Given the description of an element on the screen output the (x, y) to click on. 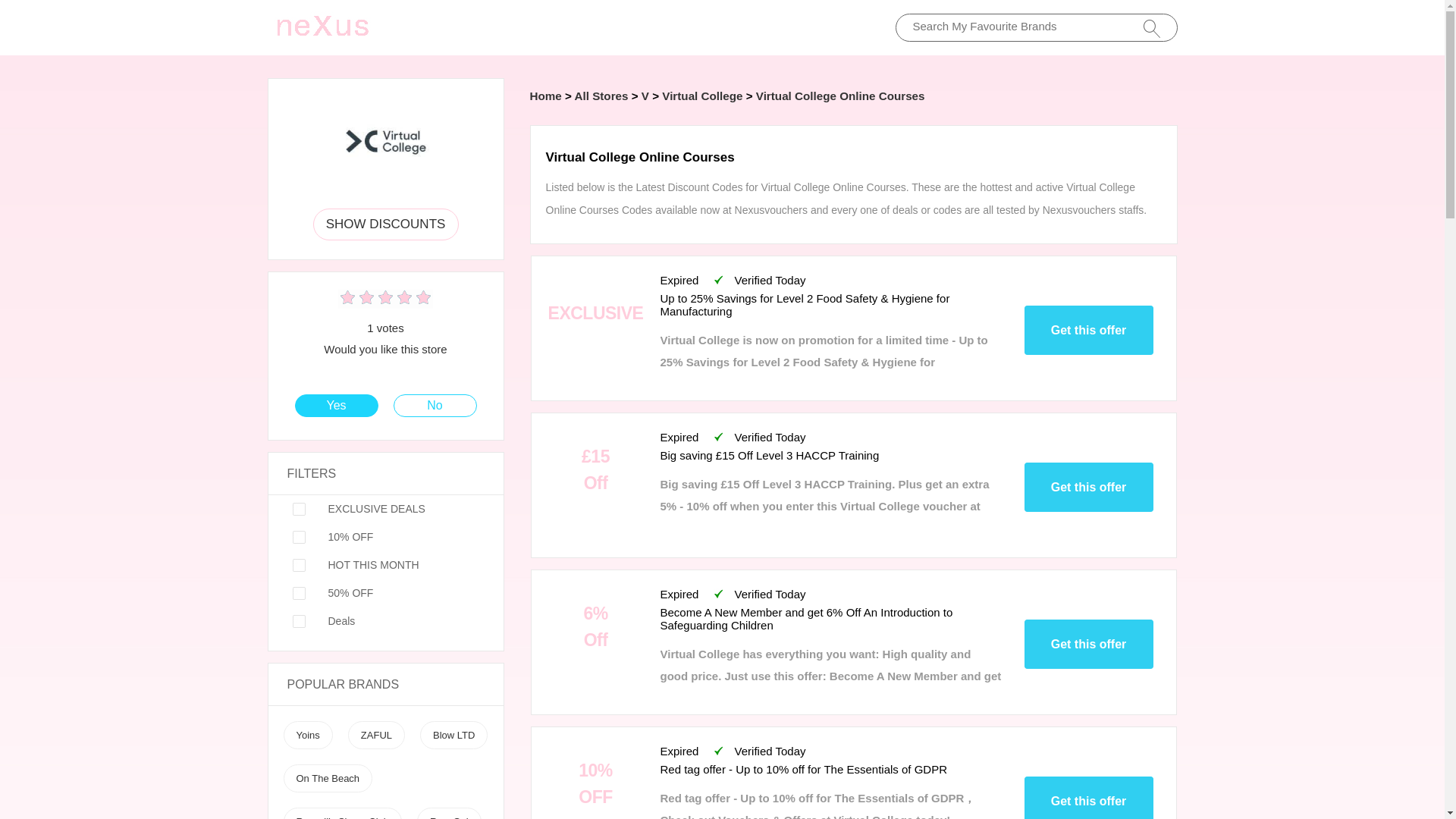
RoseGal (448, 817)
SHOW DISCOUNTS (385, 223)
3 star out of 5 (365, 298)
Blow LTD (453, 735)
4 star out of 5 (375, 298)
2 star out of 5 (356, 298)
Yes (336, 405)
No (435, 405)
On The Beach (327, 778)
ZAFUL (376, 735)
Yoins (306, 735)
1 star out of 5 (346, 298)
5 star out of 5 (384, 298)
